Given the description of an element on the screen output the (x, y) to click on. 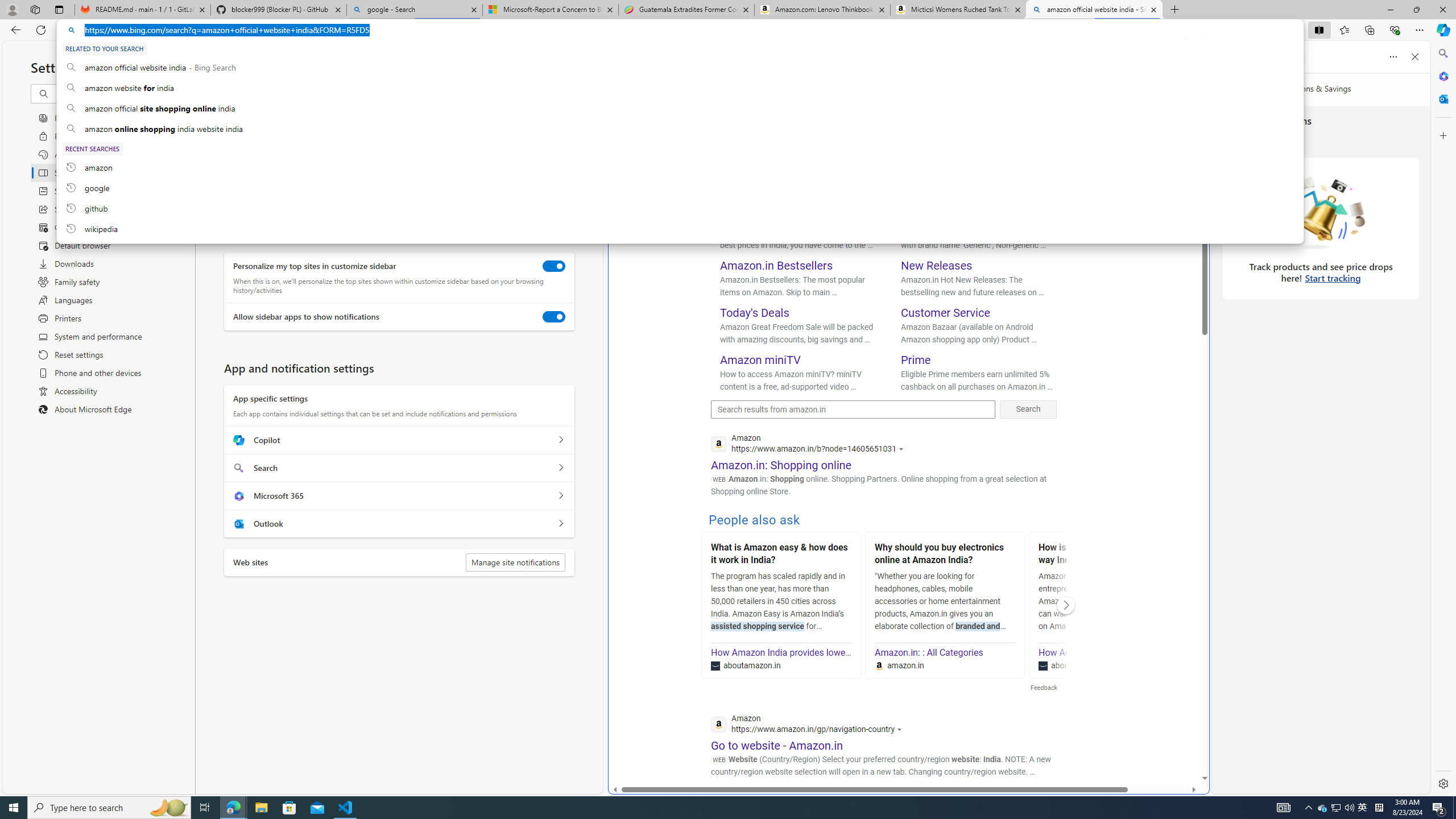
google - Search (414, 9)
Microsoft Rewards 72 (1214, 67)
AutomationID: mfa_root (1161, 743)
Customer Service (945, 312)
SEARCH (728, 96)
Back to Bing search (648, 64)
Prime (915, 359)
TOOLS (1048, 98)
Amazon.in Bestsellers (776, 265)
Copilot (560, 439)
Amazon (830, 805)
